Given the description of an element on the screen output the (x, y) to click on. 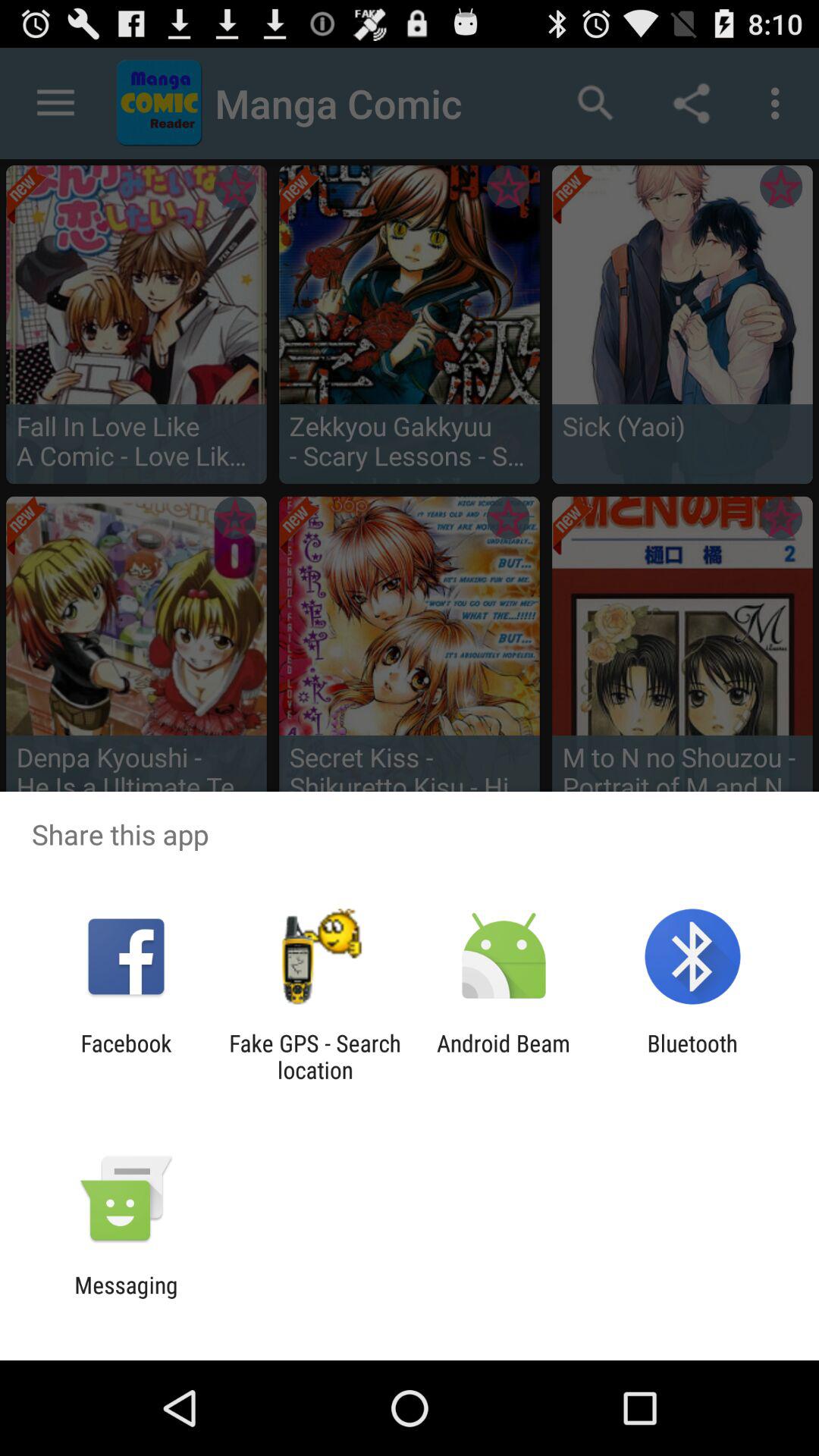
jump until android beam (503, 1056)
